Given the description of an element on the screen output the (x, y) to click on. 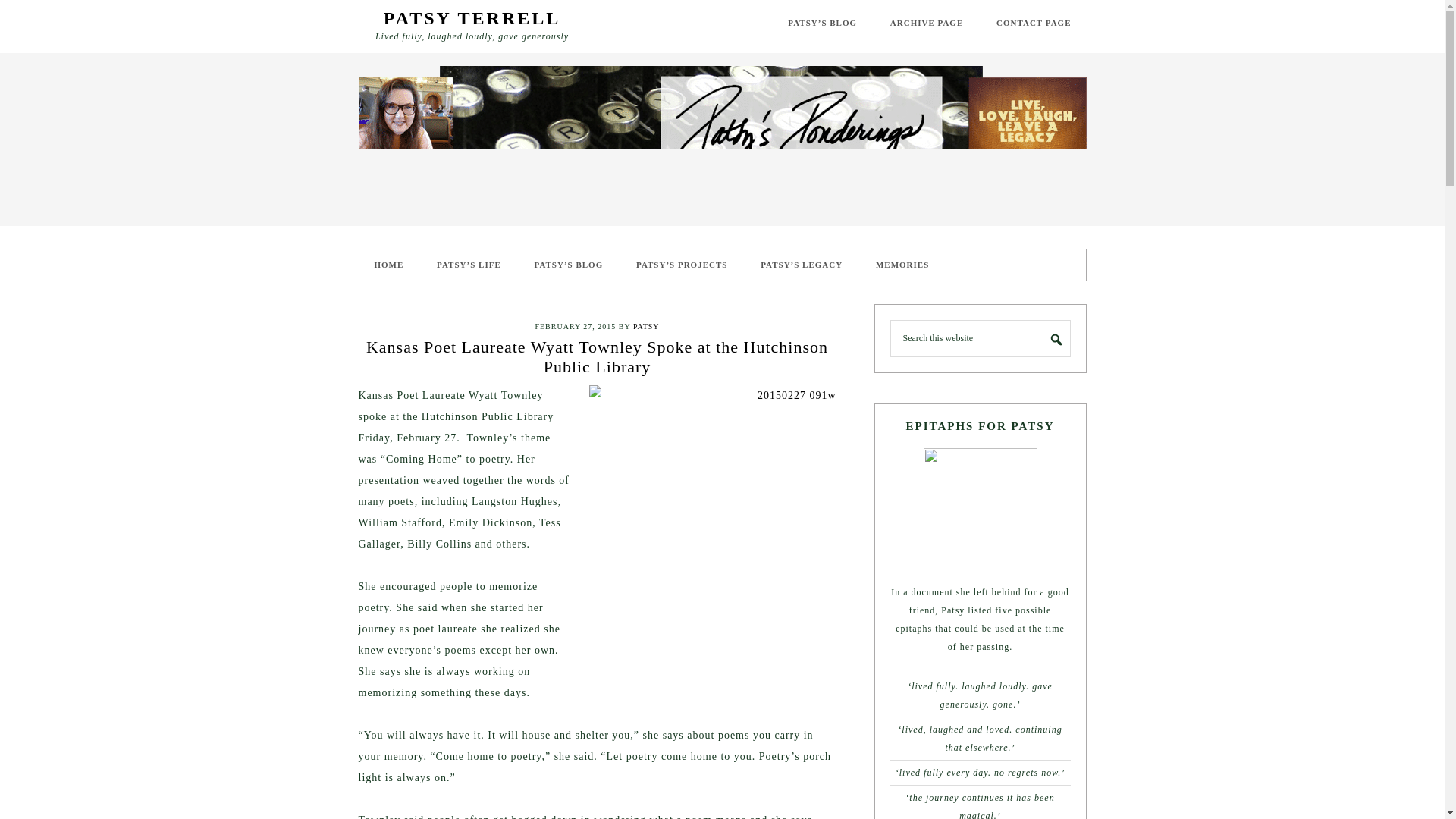
CONTACT PAGE (1033, 22)
HOME (389, 264)
ARCHIVE PAGE (926, 22)
PATSY (646, 326)
PATSY TERRELL (472, 17)
MEMORIES (901, 264)
